Given the description of an element on the screen output the (x, y) to click on. 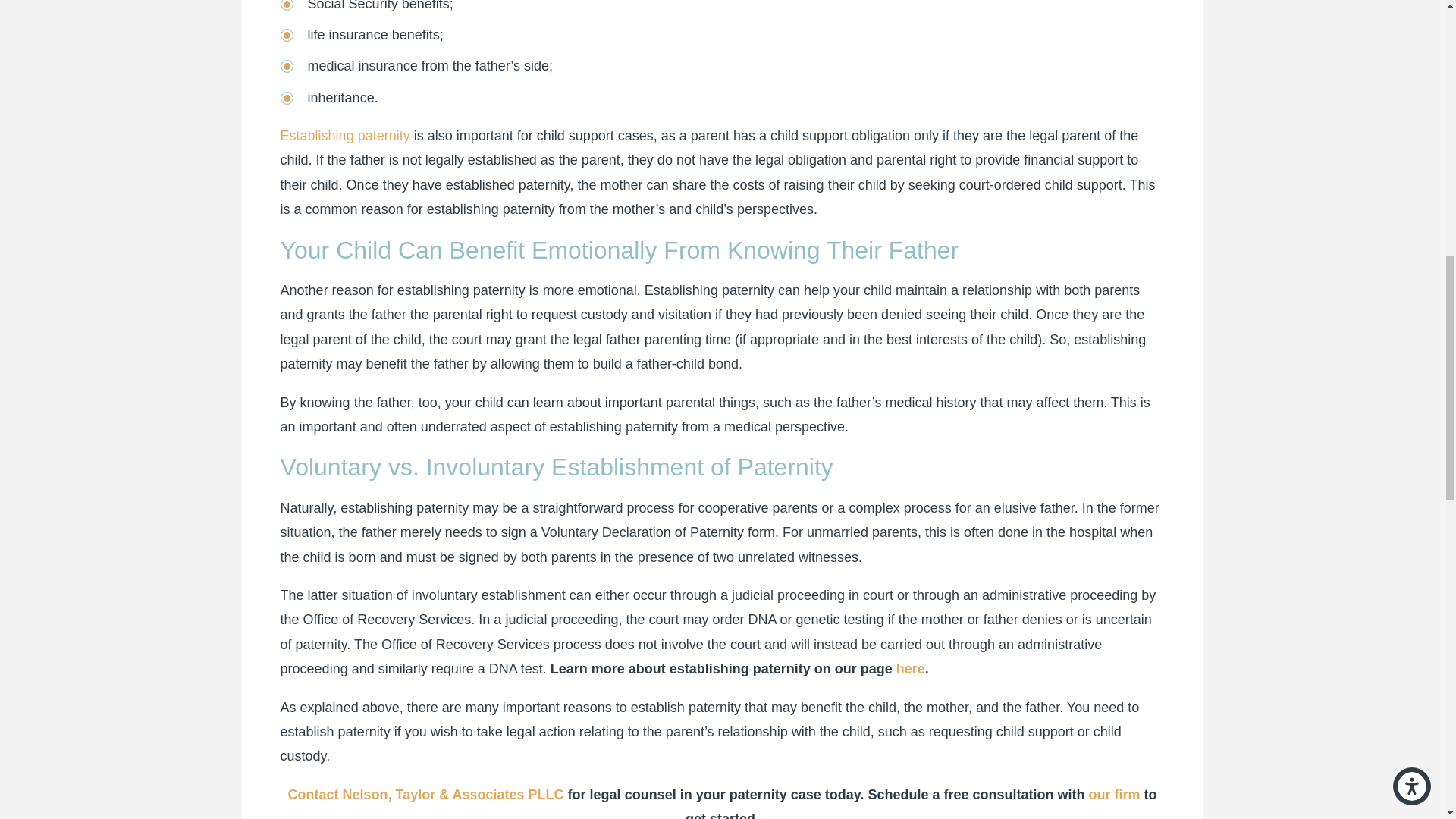
Establishing paternity (345, 135)
our firm (1113, 794)
here (910, 668)
